Given the description of an element on the screen output the (x, y) to click on. 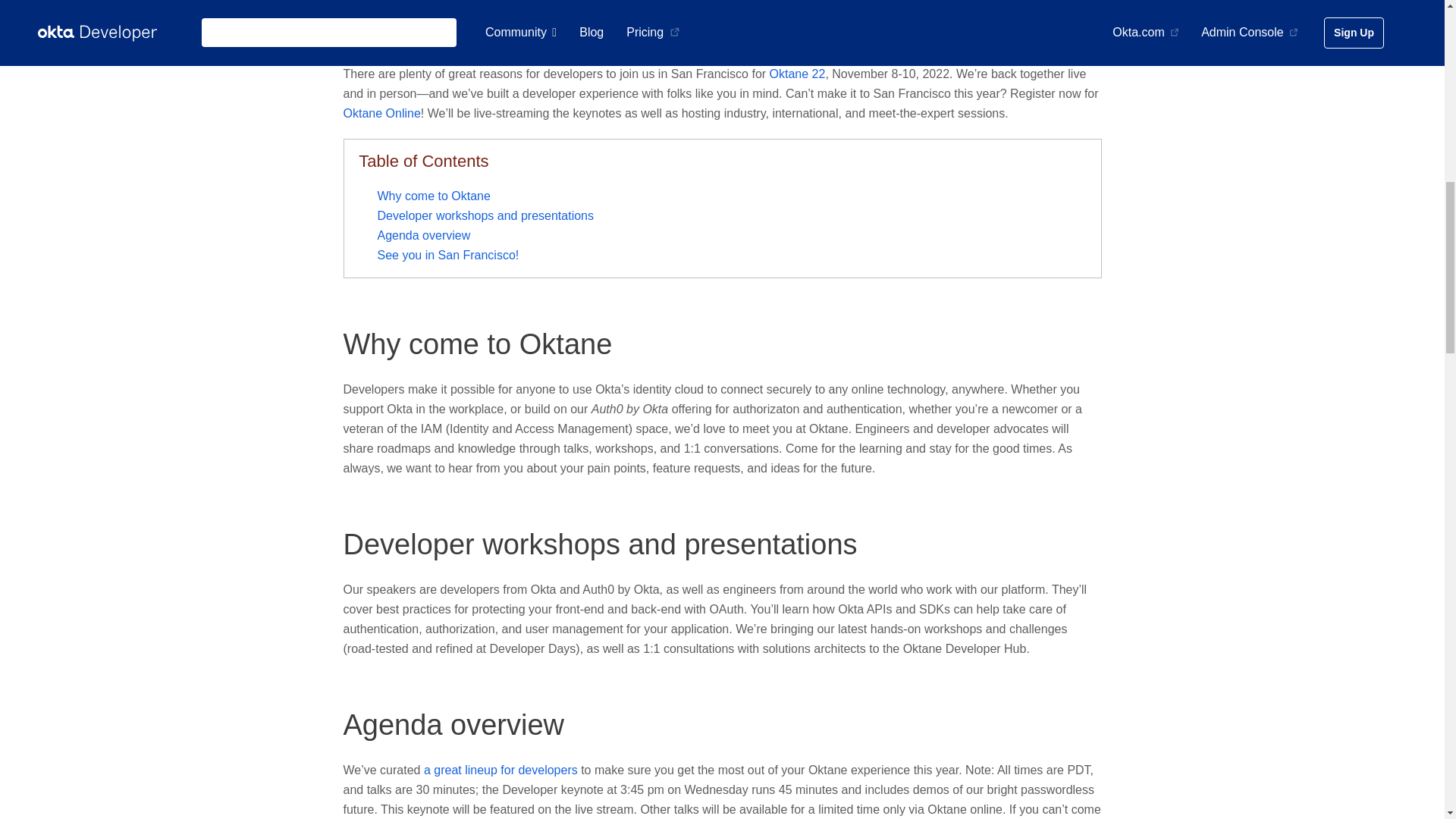
Developer workshops and presentations (485, 215)
Agenda overview (423, 235)
See you in San Francisco! (448, 254)
Agenda overview (453, 725)
Oktane 22 (797, 73)
Why come to Oktane (433, 195)
a great lineup for developers (500, 769)
Why come to Oktane (476, 344)
Developer workshops and presentations (599, 544)
Oktane Online (381, 113)
